Given the description of an element on the screen output the (x, y) to click on. 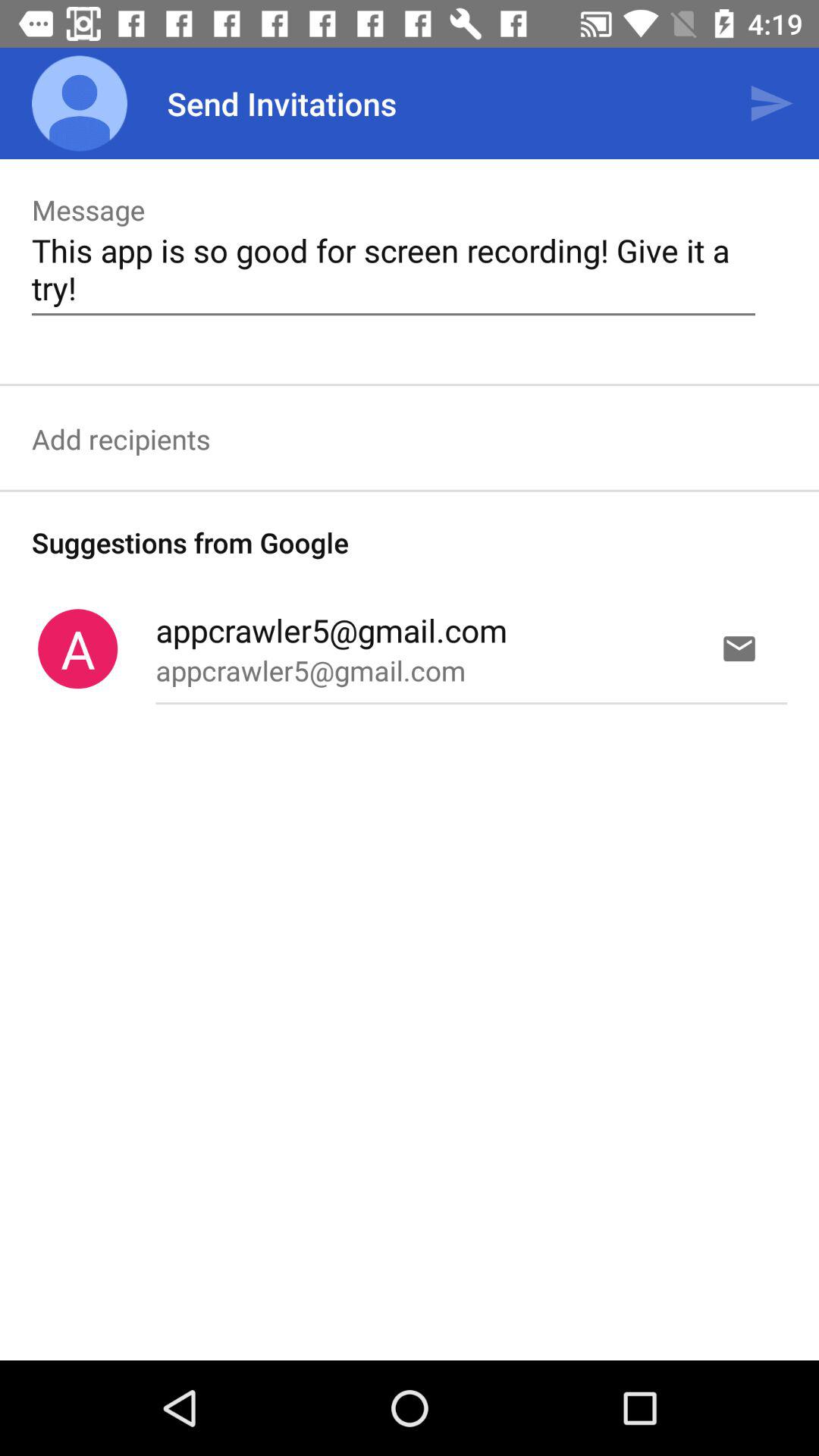
click the this app is item (393, 268)
